Given the description of an element on the screen output the (x, y) to click on. 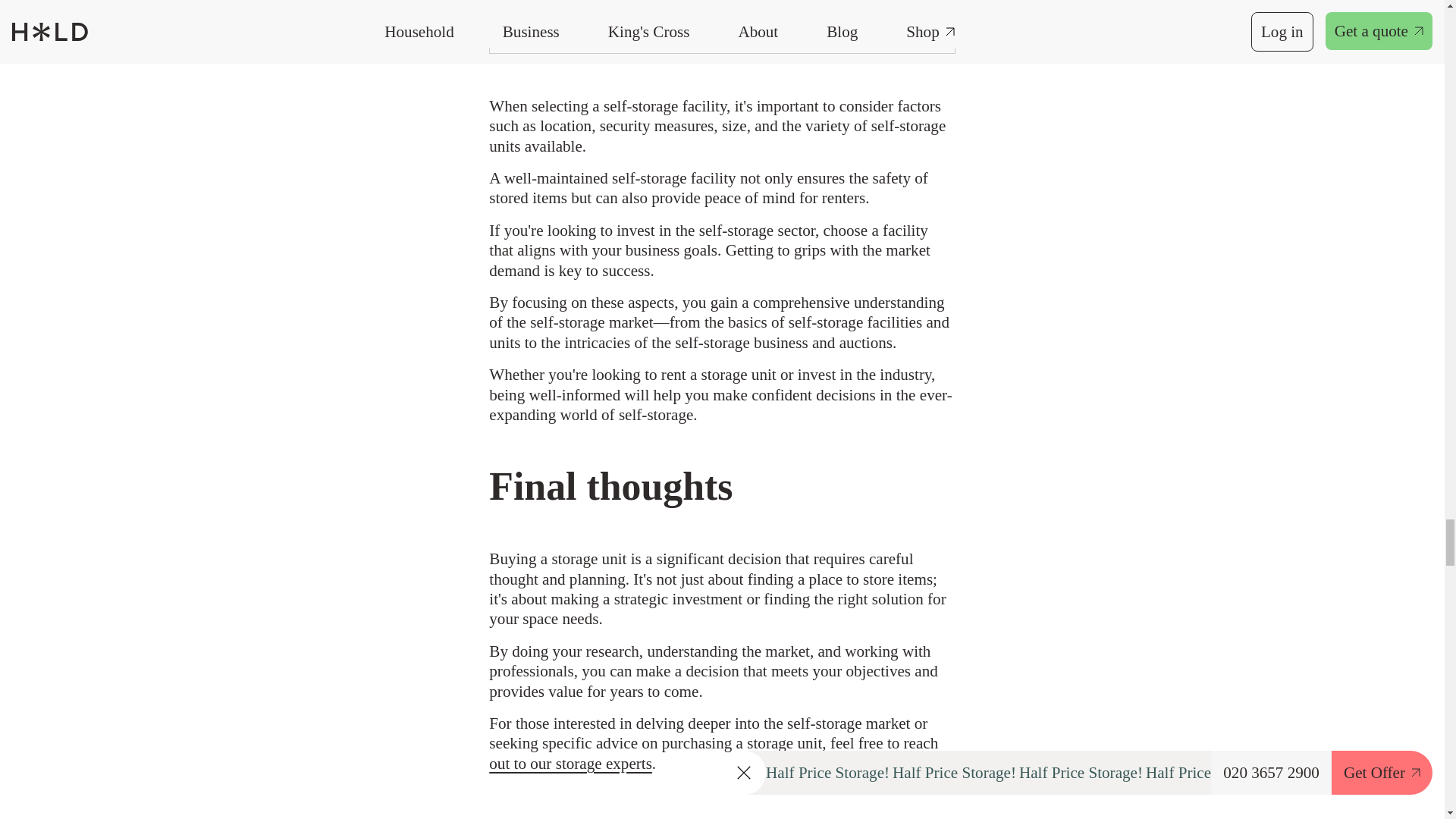
reach out to our storage experts (713, 752)
